Given the description of an element on the screen output the (x, y) to click on. 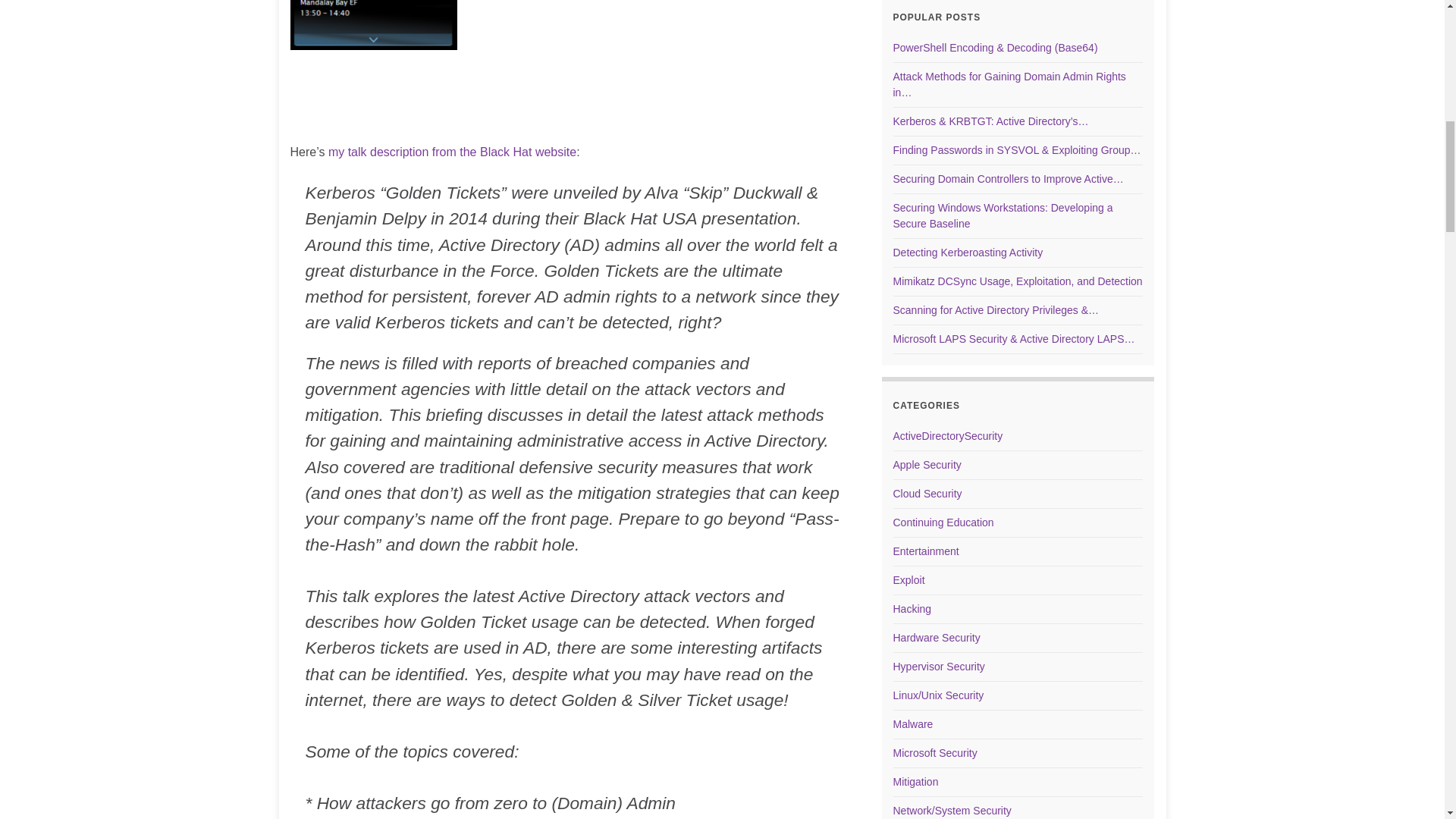
my talk description from the Black Hat website (452, 151)
